Given the description of an element on the screen output the (x, y) to click on. 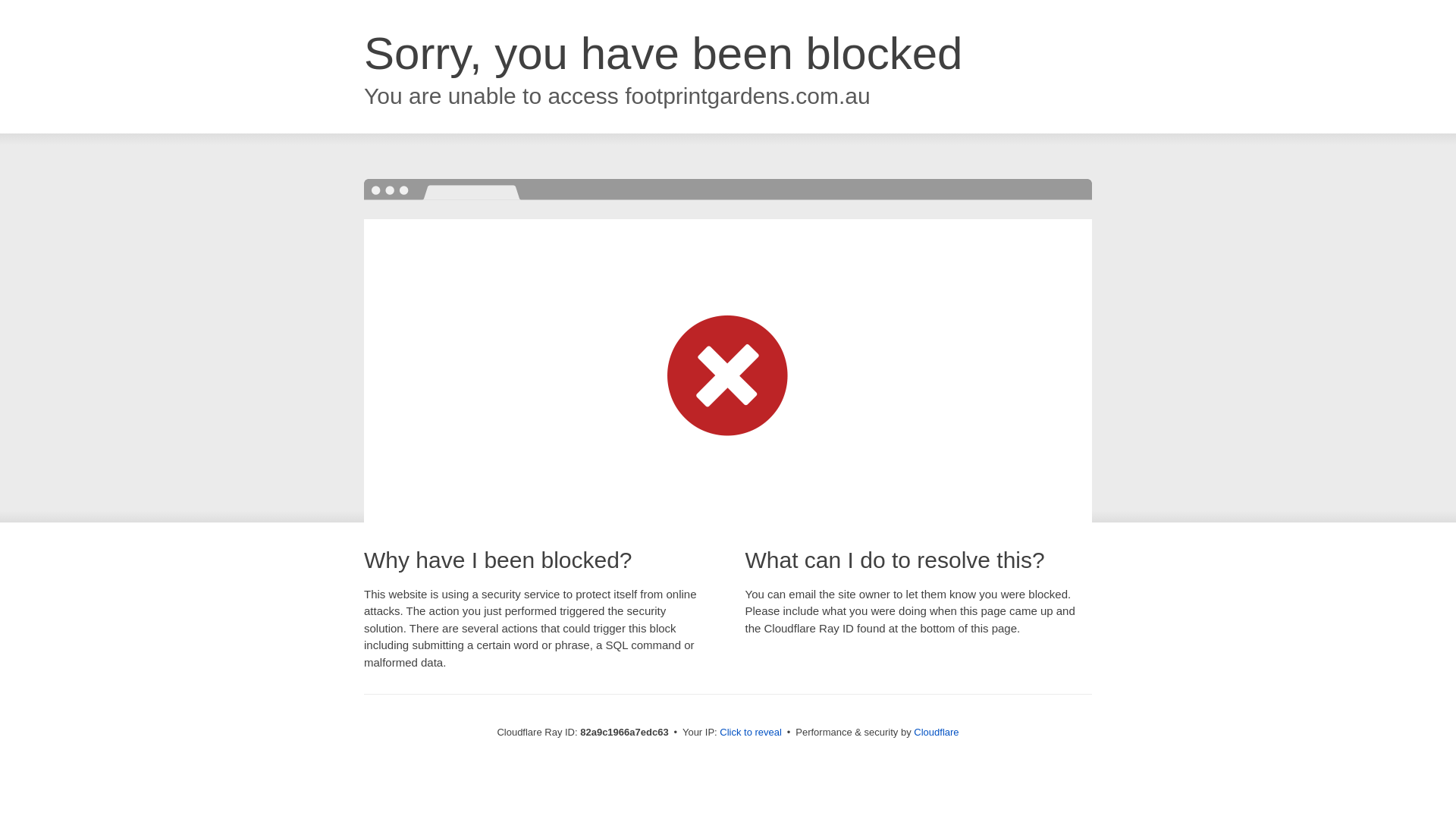
Cloudflare Element type: text (935, 731)
Click to reveal Element type: text (750, 732)
